Given the description of an element on the screen output the (x, y) to click on. 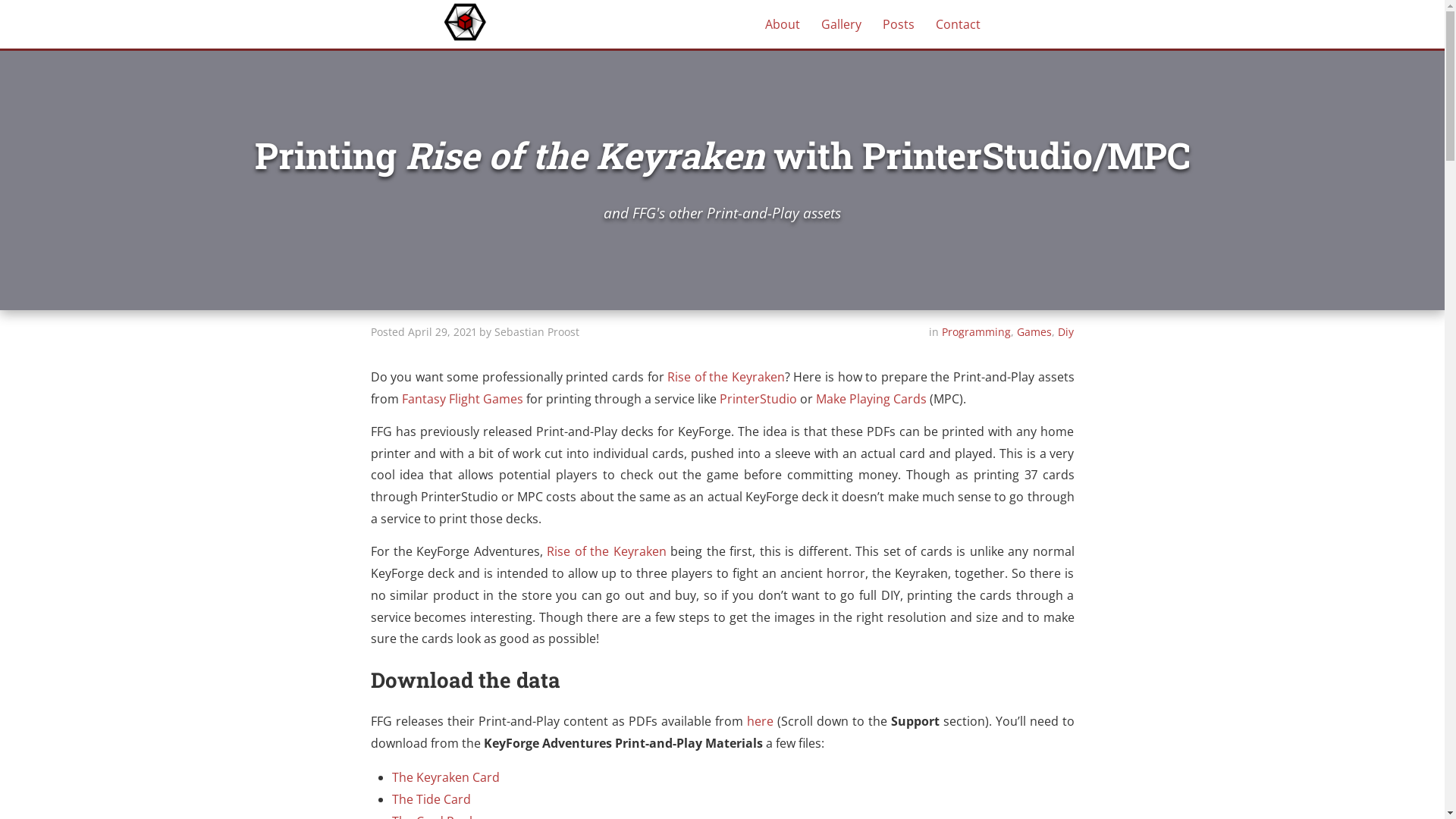
PrinterStudio Element type: text (757, 398)
Contact Element type: text (966, 24)
About Element type: text (790, 24)
Posts Element type: text (907, 24)
Diy Element type: text (1065, 331)
The Keyraken Card Element type: text (445, 776)
Make Playing Cards Element type: text (870, 398)
Gallery Element type: text (849, 24)
The Tide Card Element type: text (431, 798)
Fantasy Flight Games Element type: text (462, 398)
Programming Element type: text (975, 331)
Games Element type: text (1033, 331)
here Element type: text (759, 720)
Rise of the Keyraken Element type: text (725, 376)
Rise of the Keyraken Element type: text (605, 550)
